Given the description of an element on the screen output the (x, y) to click on. 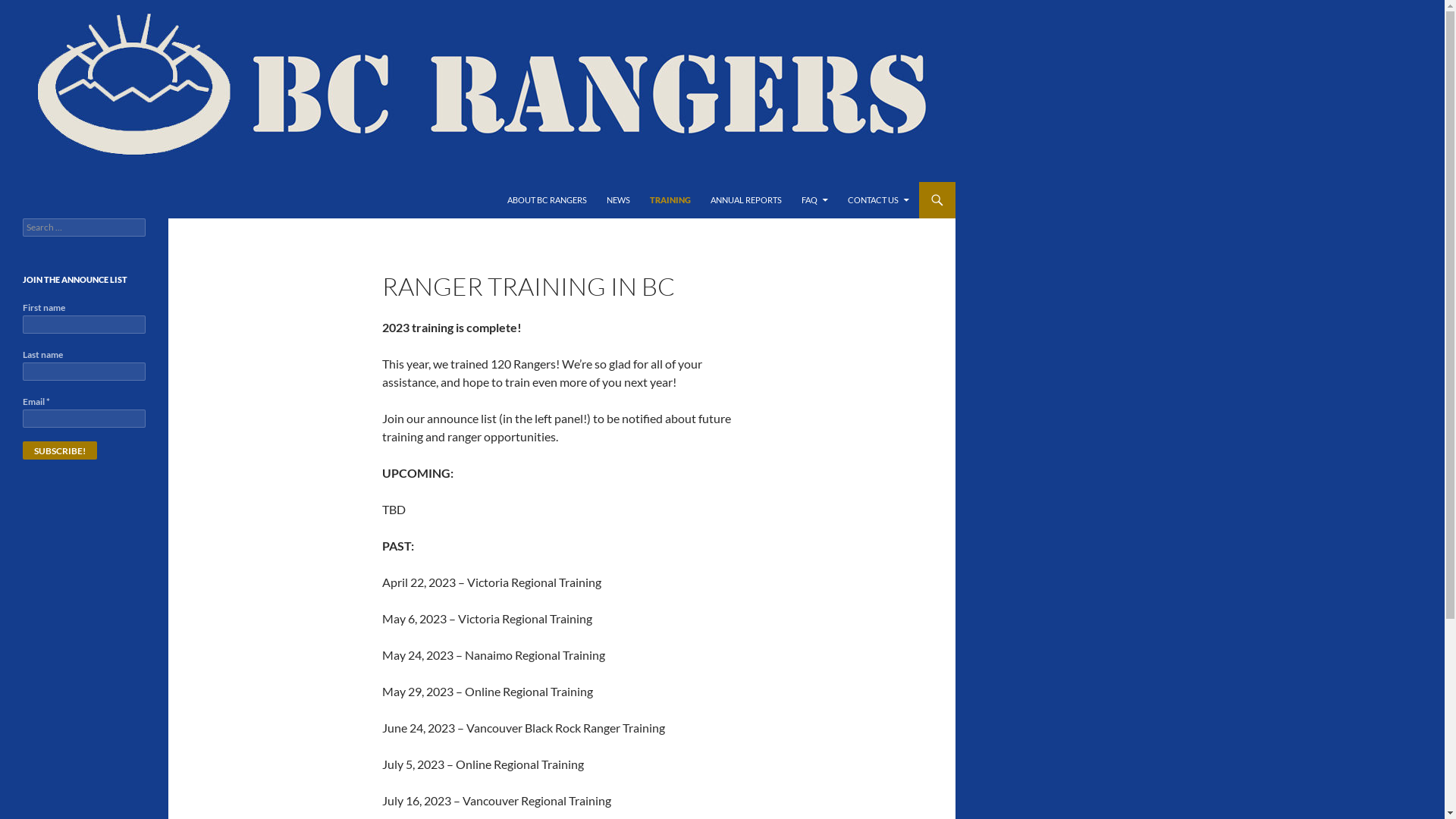
First name Element type: hover (83, 324)
CONTACT US Element type: text (878, 200)
BC Rangers Element type: text (57, 200)
Last name Element type: hover (83, 371)
Email Element type: hover (83, 418)
SKIP TO CONTENT Element type: text (506, 181)
ABOUT BC RANGERS Element type: text (547, 200)
NEWS Element type: text (618, 200)
FAQ Element type: text (814, 200)
Search Element type: text (29, 9)
Subscribe! Element type: text (59, 450)
Search Element type: text (3, 181)
TRAINING Element type: text (669, 200)
ANNUAL REPORTS Element type: text (745, 200)
